Given the description of an element on the screen output the (x, y) to click on. 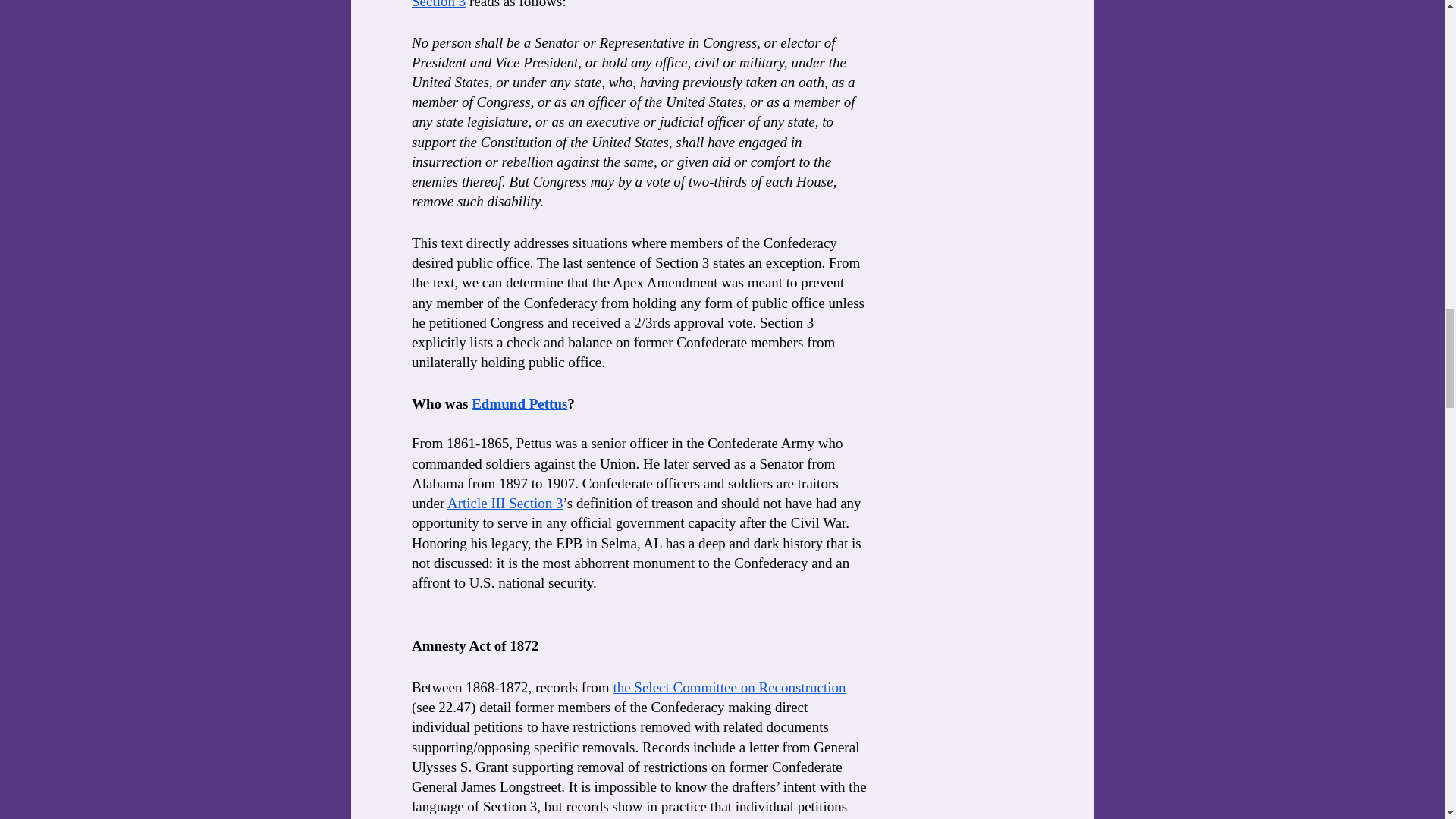
Edmund Pettus (519, 403)
Article III Section 3 (504, 503)
the Select Committee on Reconstruction (728, 687)
Section 3 (437, 4)
